Given the description of an element on the screen output the (x, y) to click on. 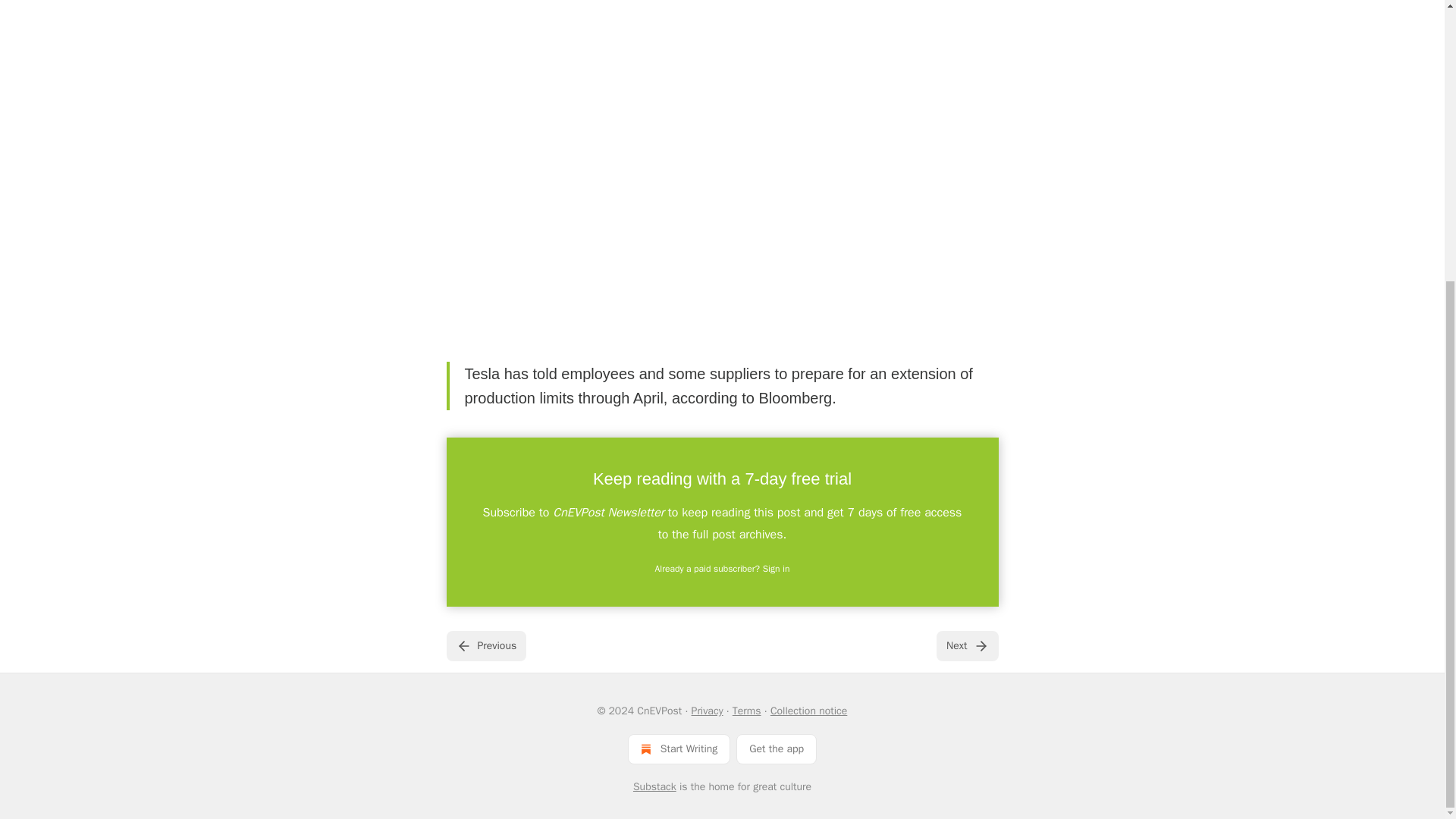
Get the app (776, 748)
Collection notice (808, 710)
Terms (746, 710)
Previous (485, 645)
Start Writing (678, 748)
Already a paid subscriber? Sign in (722, 568)
Privacy (707, 710)
Next (966, 645)
Substack (655, 786)
